Given the description of an element on the screen output the (x, y) to click on. 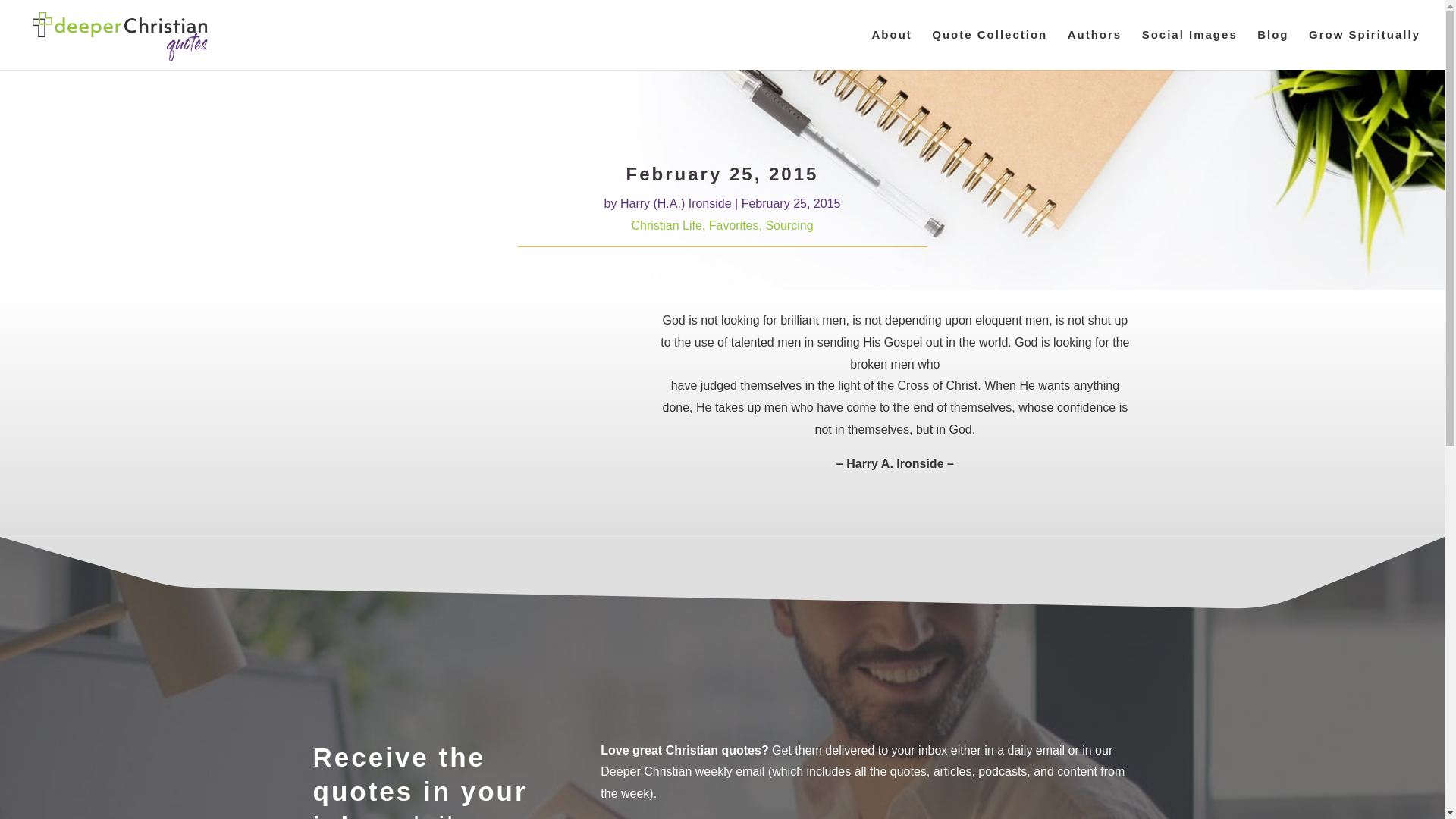
Social Images (1189, 49)
Favorites (733, 225)
Grow Spiritually (1364, 49)
Authors (1094, 49)
Sourcing (788, 225)
Christian Life (665, 225)
About (890, 49)
Quote Collection (988, 49)
